Given the description of an element on the screen output the (x, y) to click on. 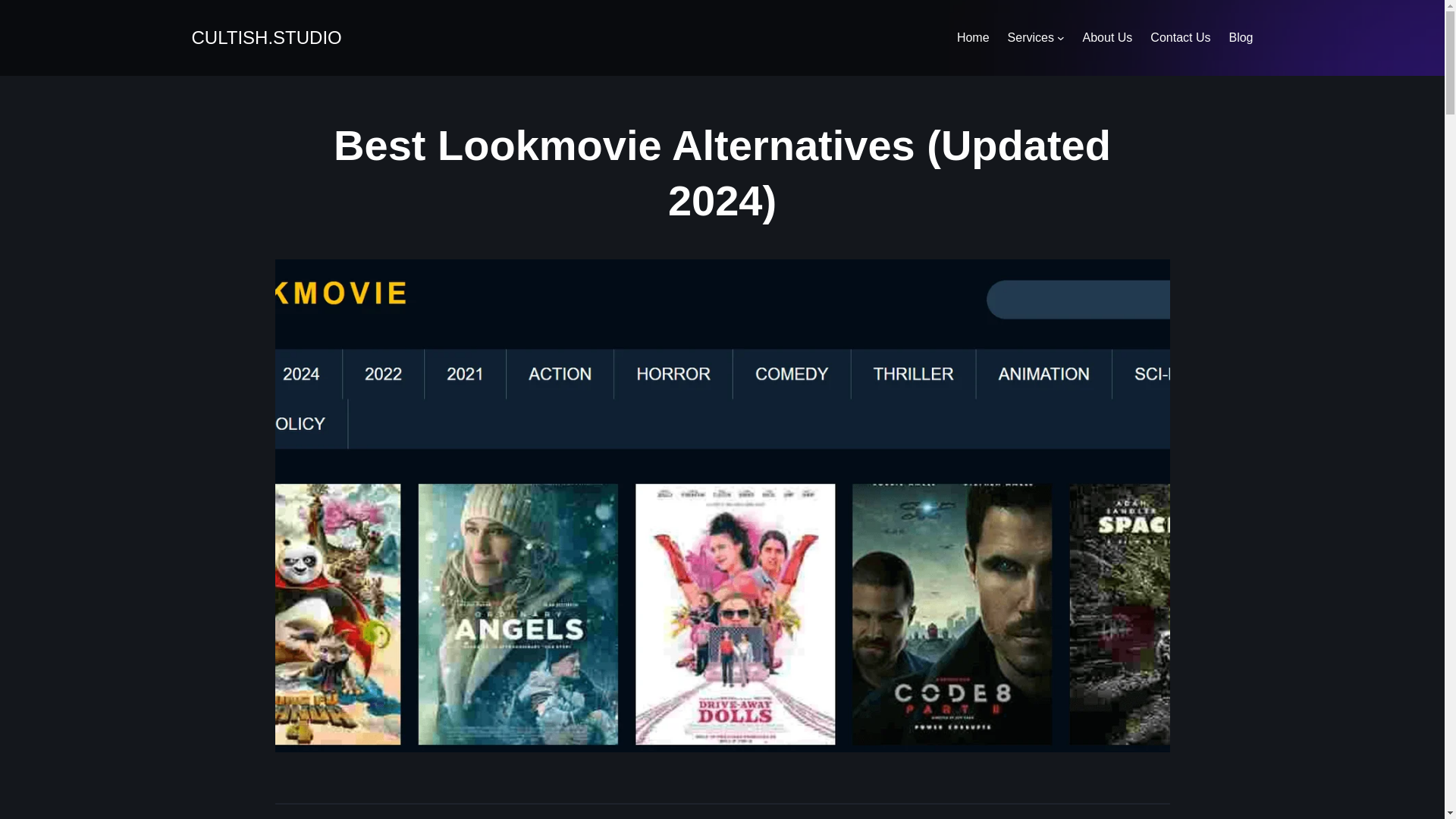
About Us (1107, 37)
Services (1030, 37)
CULTISH.STUDIO (265, 37)
Blog (1240, 37)
Home (973, 37)
Contact Us (1179, 37)
